Given the description of an element on the screen output the (x, y) to click on. 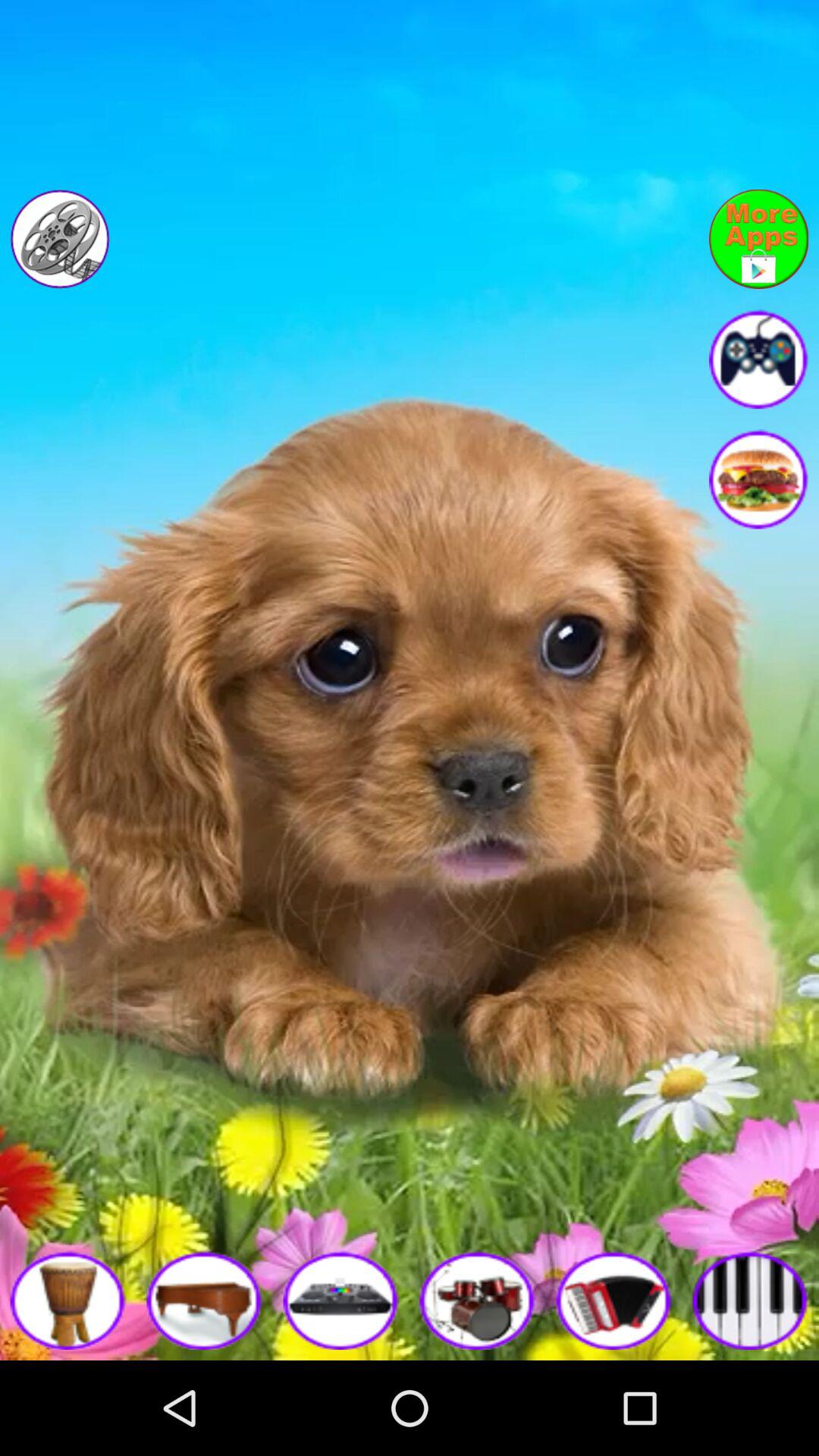
select instrument (68, 1300)
